Given the description of an element on the screen output the (x, y) to click on. 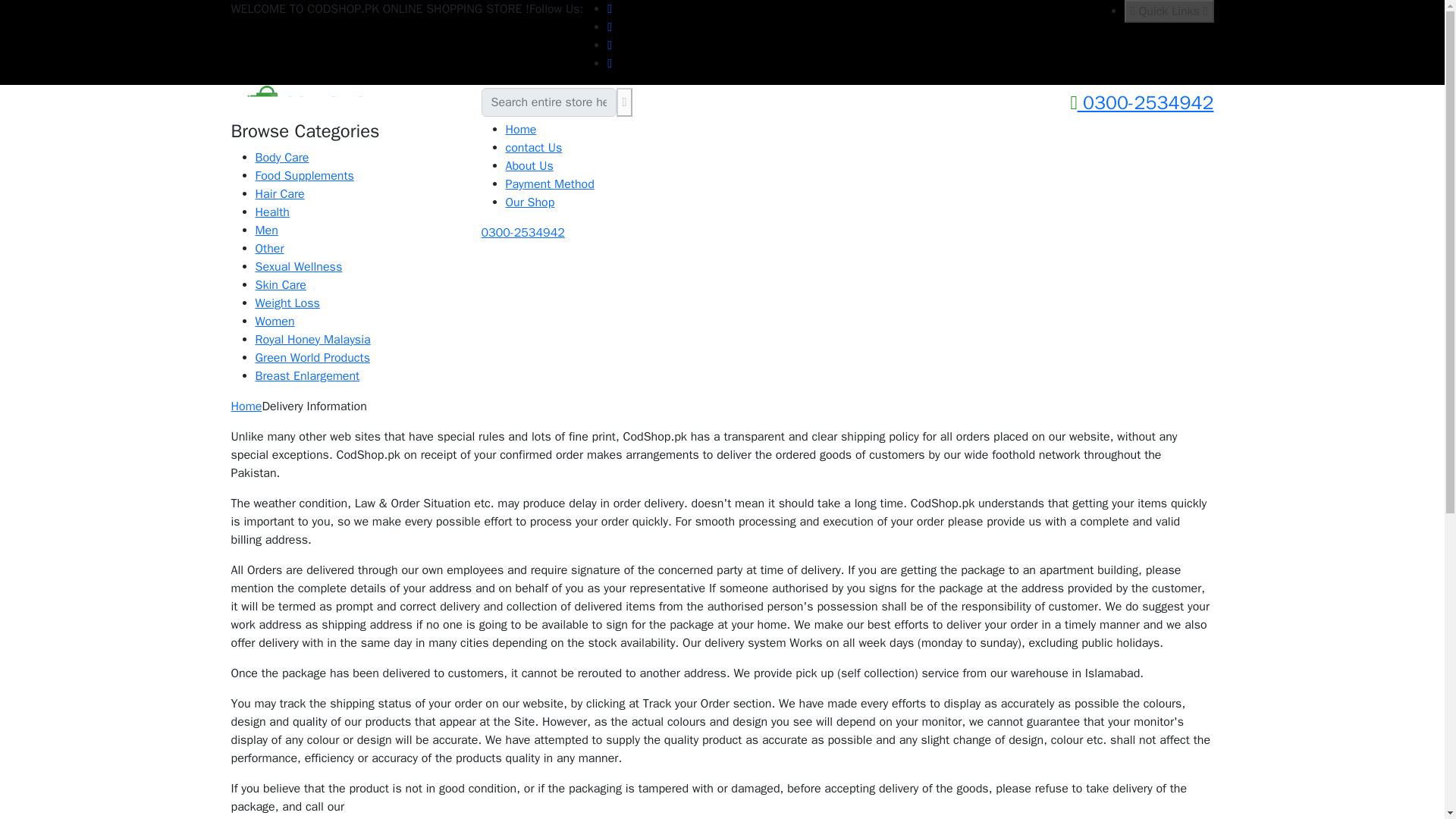
Skin Care (279, 284)
Women (274, 321)
Our Shop (529, 201)
Hair Care (279, 193)
contact Us (533, 147)
About Us (529, 165)
0300-2534942 (1141, 102)
Home (520, 129)
Body Care (281, 157)
Men (266, 230)
Health (271, 212)
Weight Loss (286, 303)
Sexual Wellness (298, 266)
Green World Products (311, 357)
Royal Honey Malaysia (311, 339)
